Given the description of an element on the screen output the (x, y) to click on. 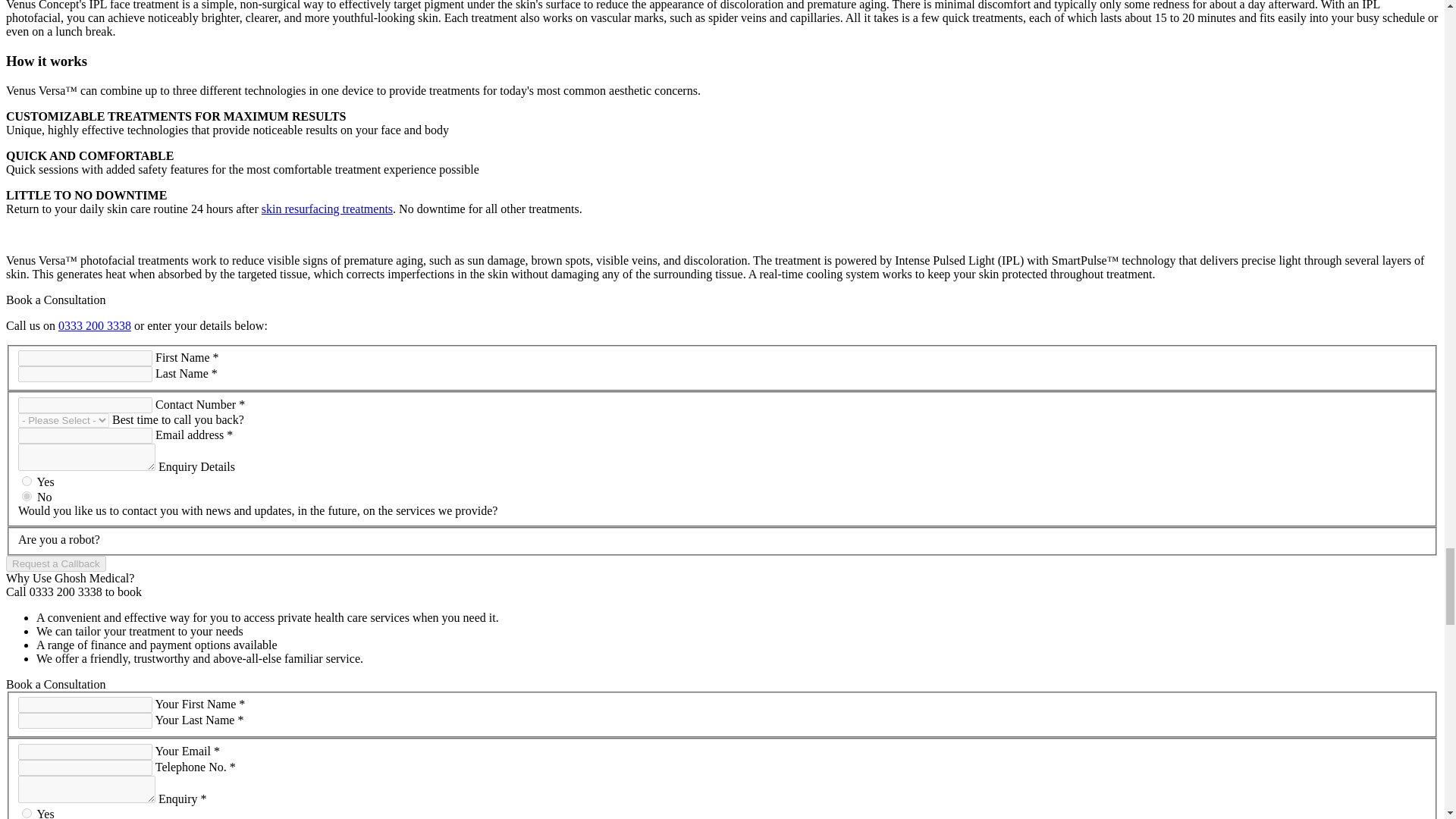
Yes (26, 813)
No (26, 496)
Yes (26, 480)
0333 200 3338 (94, 325)
